Given the description of an element on the screen output the (x, y) to click on. 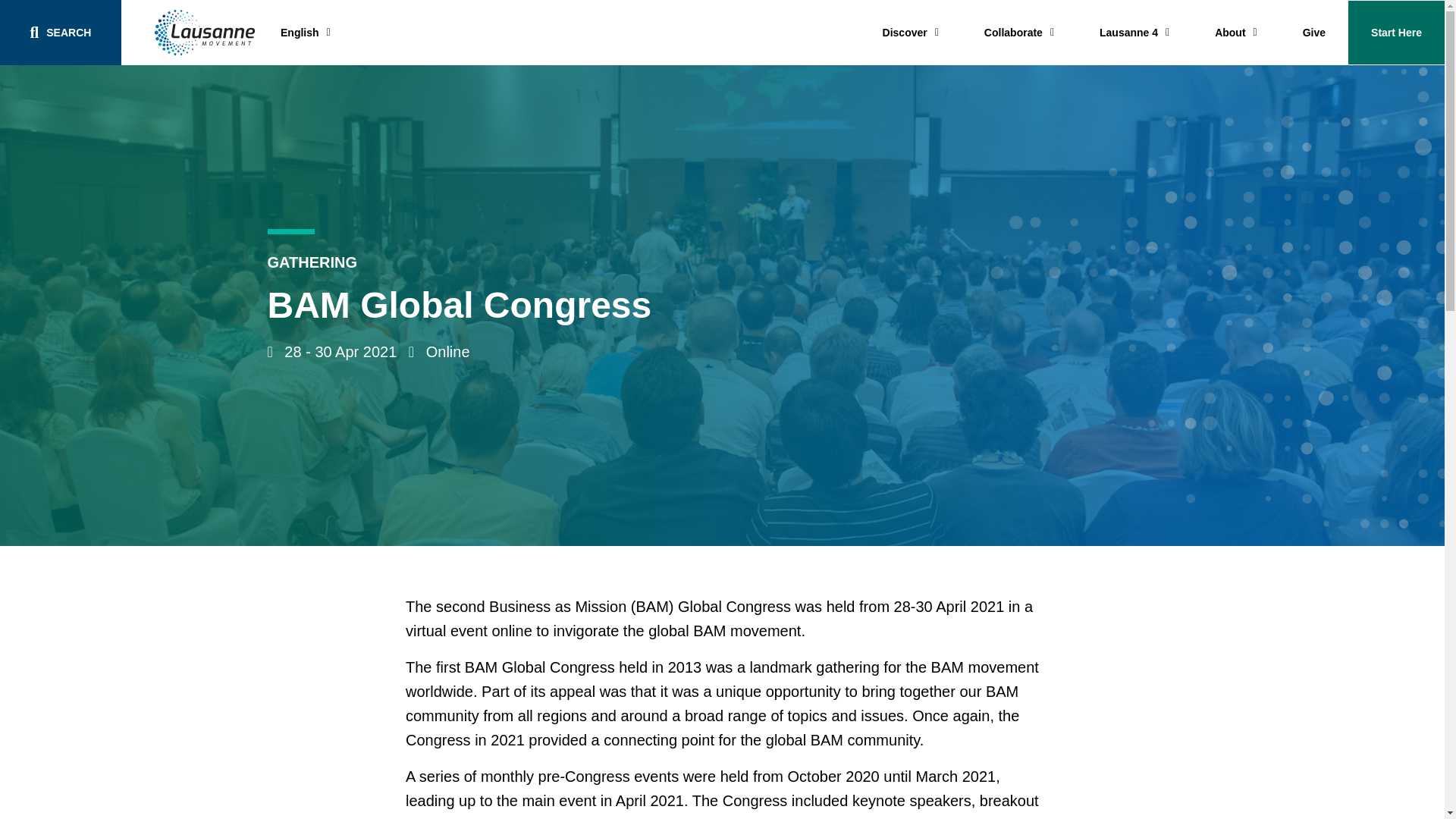
About (1235, 32)
Give (1313, 32)
Lausanne 4 (1134, 32)
English (305, 32)
Discover (910, 32)
Collaborate (1018, 32)
SEARCH (60, 32)
